Given the description of an element on the screen output the (x, y) to click on. 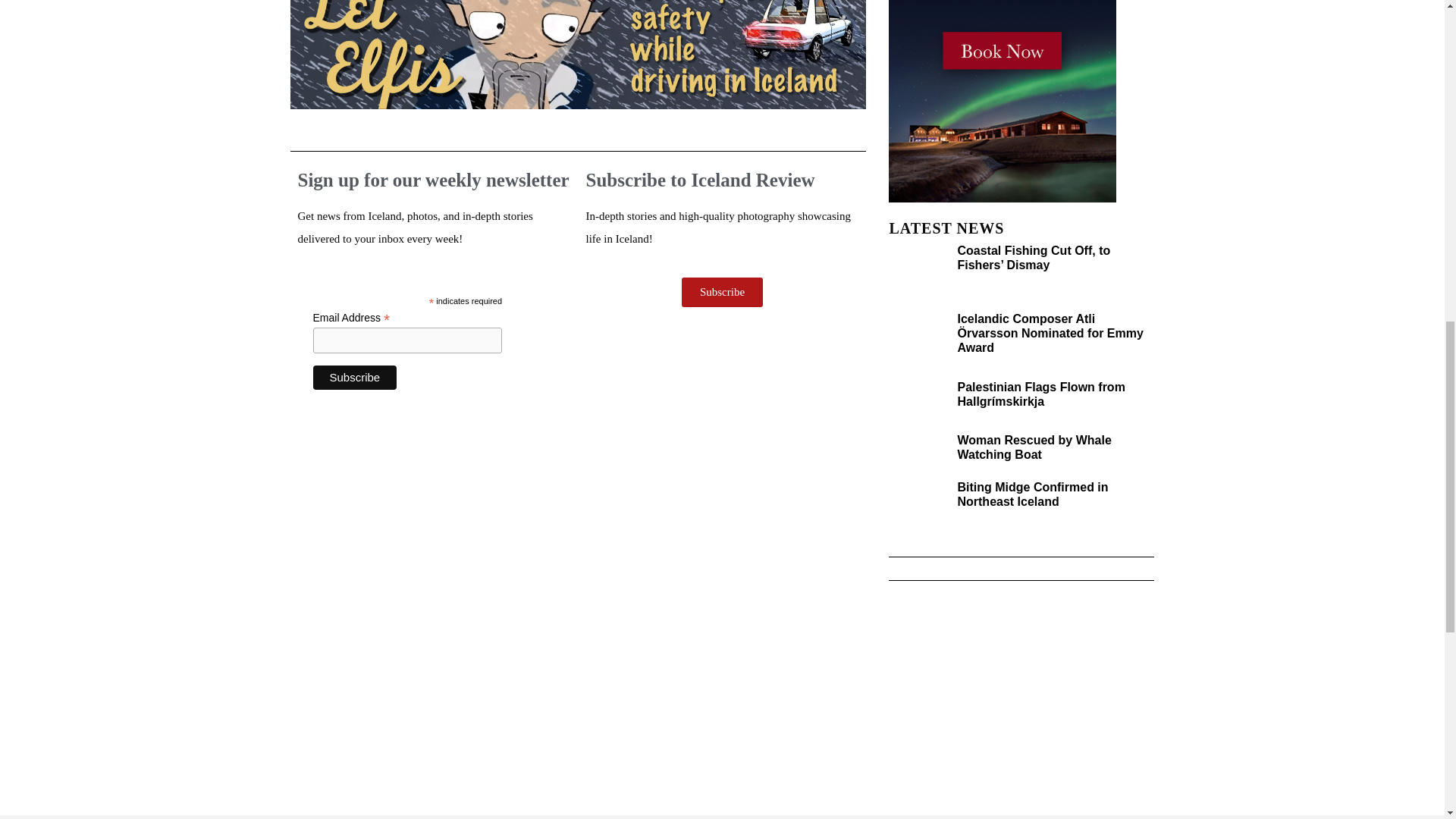
Biting Midge Confirmed in Northeast Iceland (1032, 493)
Subscribe (354, 377)
Woman Rescued by Whale Watching Boat (1033, 447)
